Given the description of an element on the screen output the (x, y) to click on. 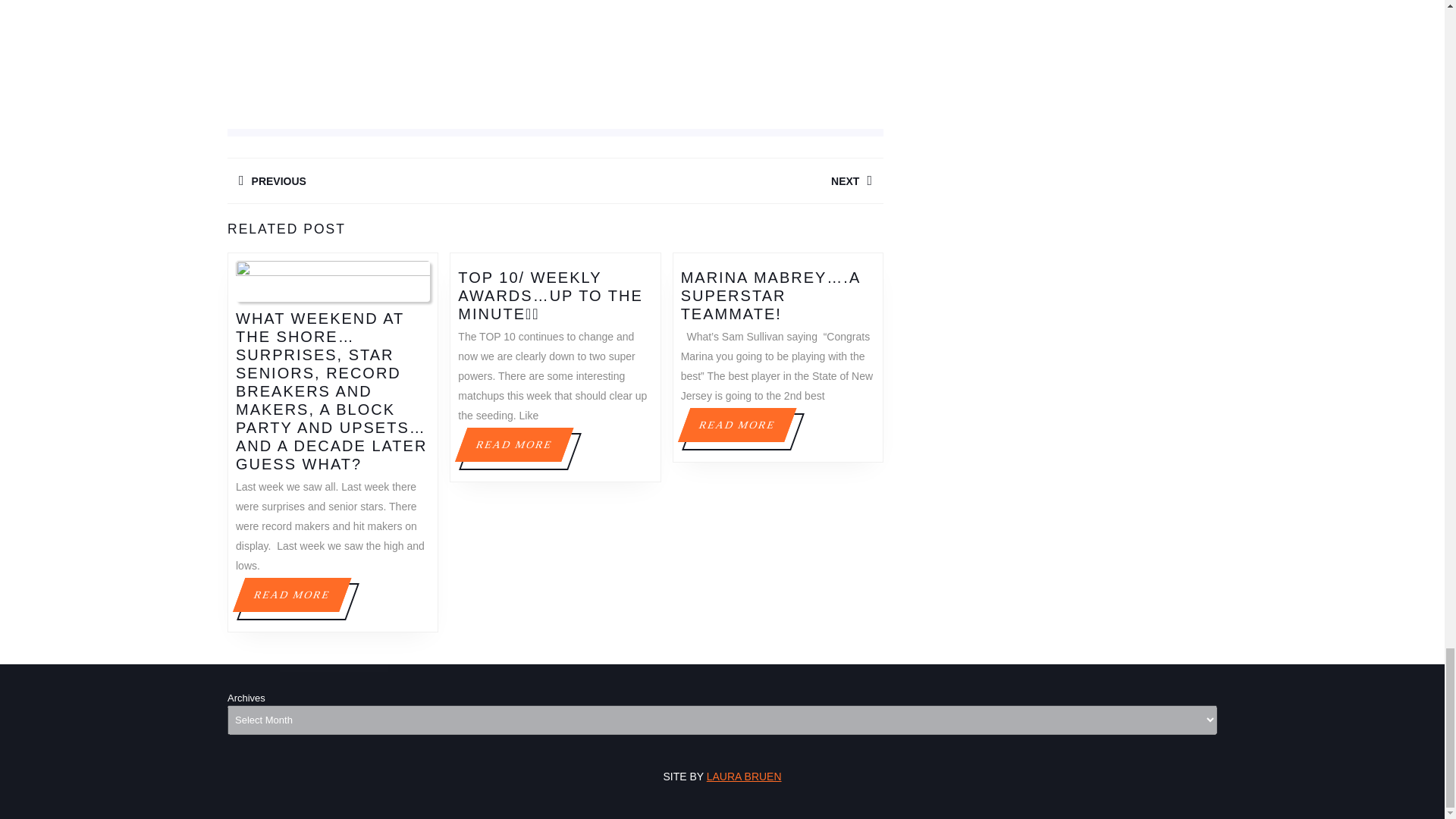
LAURA BRUEN (718, 180)
